Given the description of an element on the screen output the (x, y) to click on. 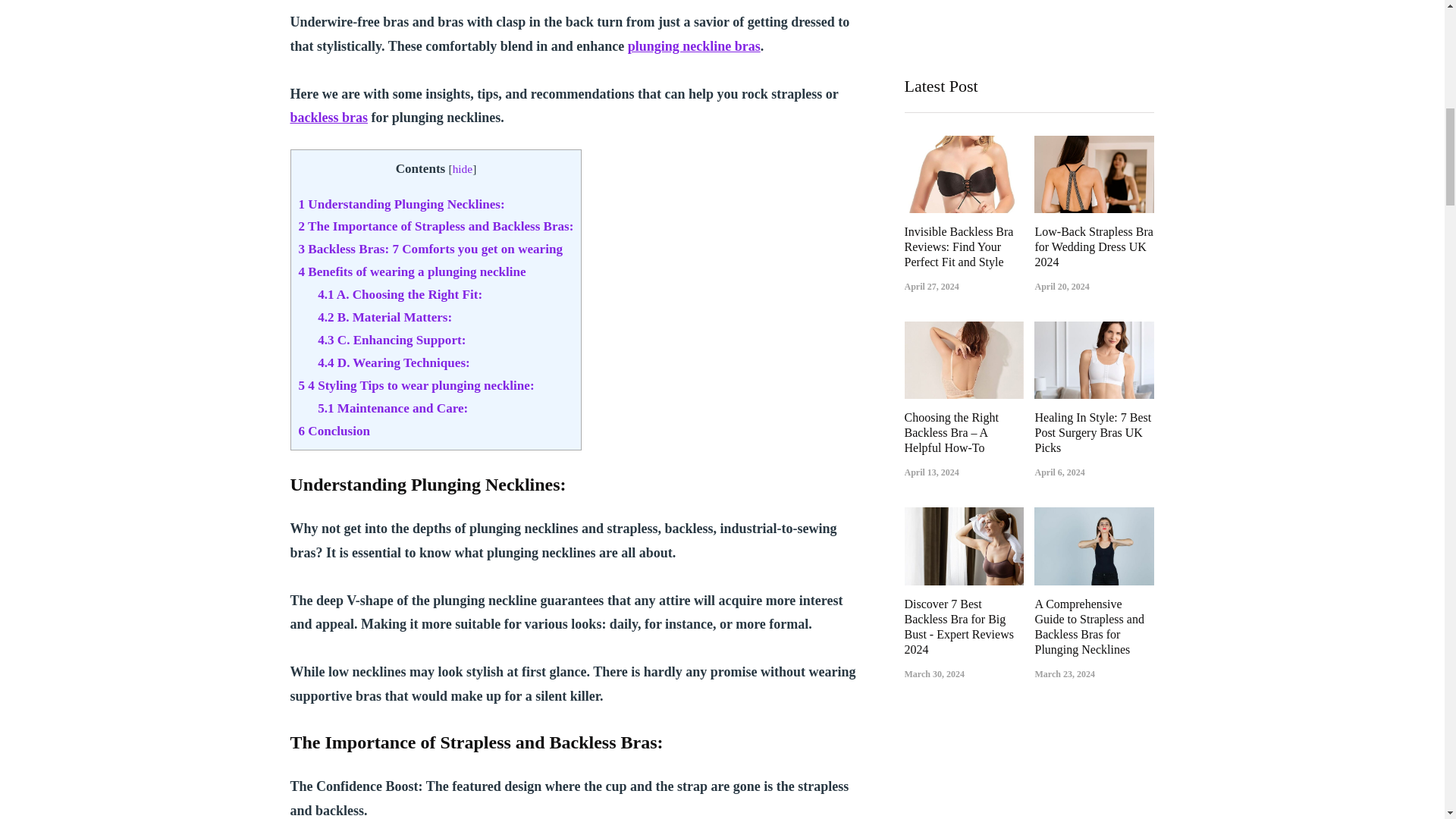
3 Backless Bras: 7 Comforts you get on wearing  (432, 248)
hide (461, 168)
2 The Importance of Strapless and Backless Bras: (435, 226)
backless bras (328, 117)
plunging neckline bras (693, 45)
1 Understanding Plunging Necklines: (401, 204)
